Given the description of an element on the screen output the (x, y) to click on. 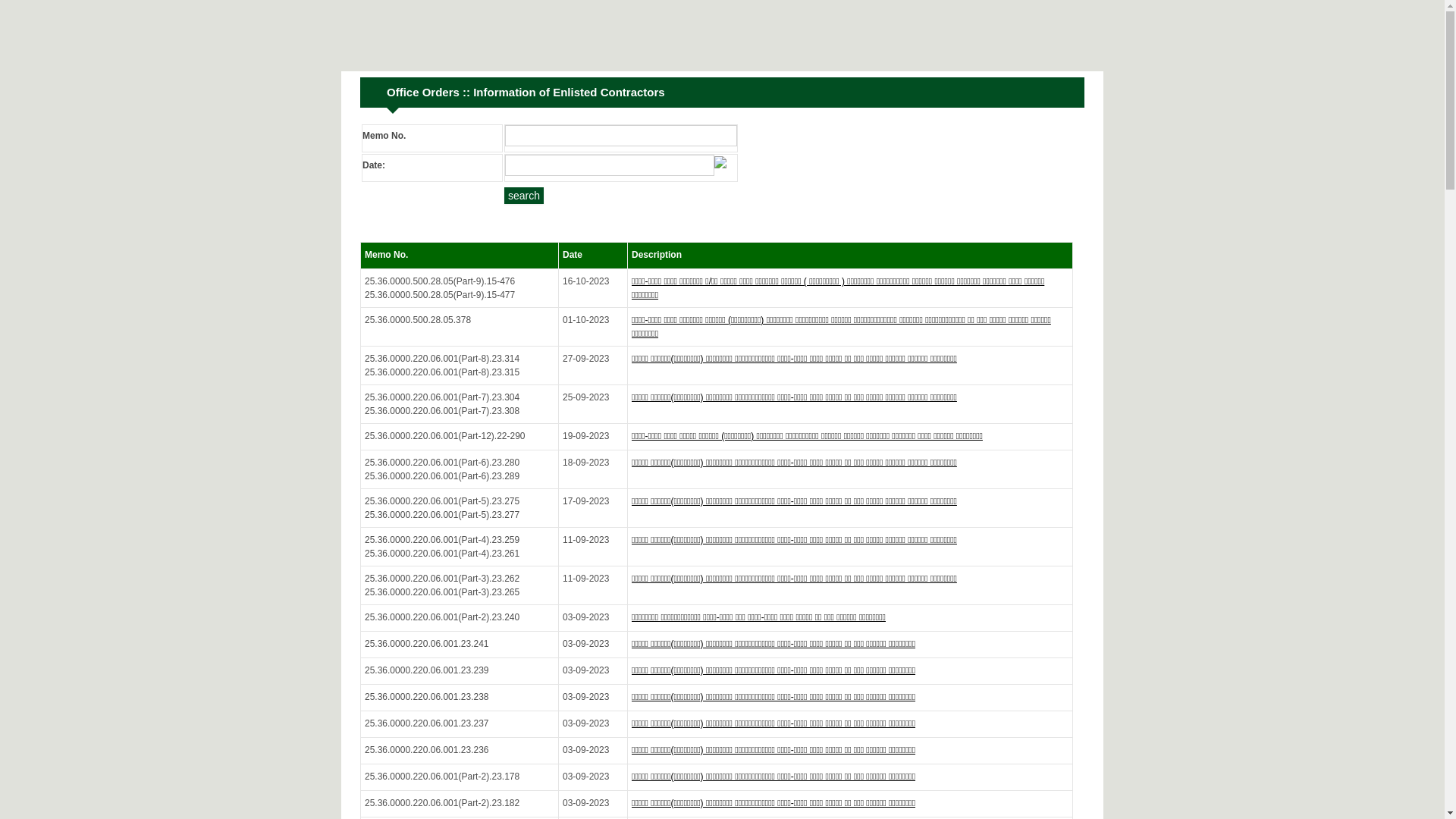
search Element type: text (523, 195)
